Given the description of an element on the screen output the (x, y) to click on. 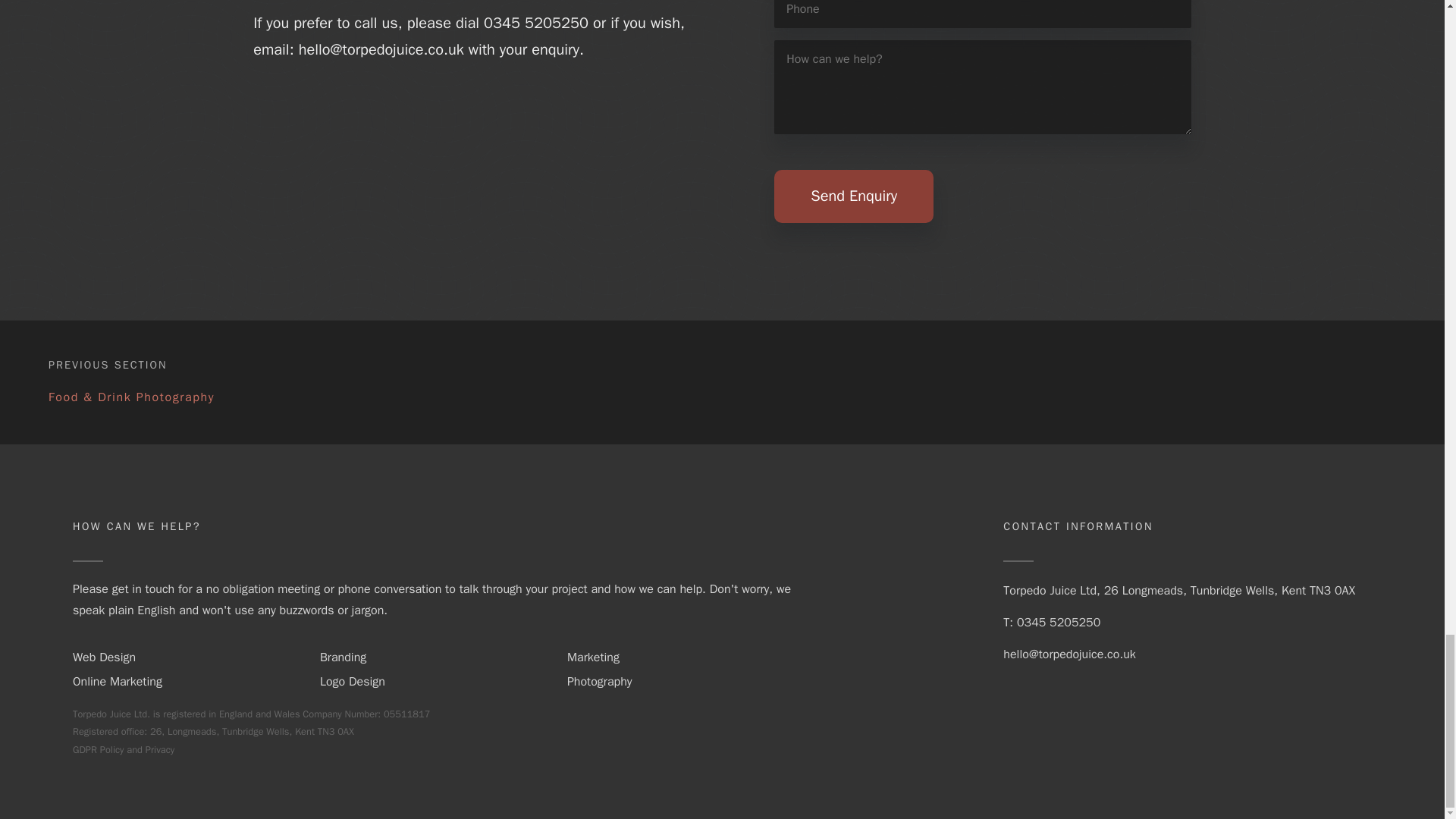
Online Marketing (116, 681)
Web Design (103, 657)
Branding (343, 657)
Marketing (593, 657)
Send Enquiry (853, 195)
GDPR Policy and Privacy (123, 749)
Photography (599, 681)
Logo Design (352, 681)
